Given the description of an element on the screen output the (x, y) to click on. 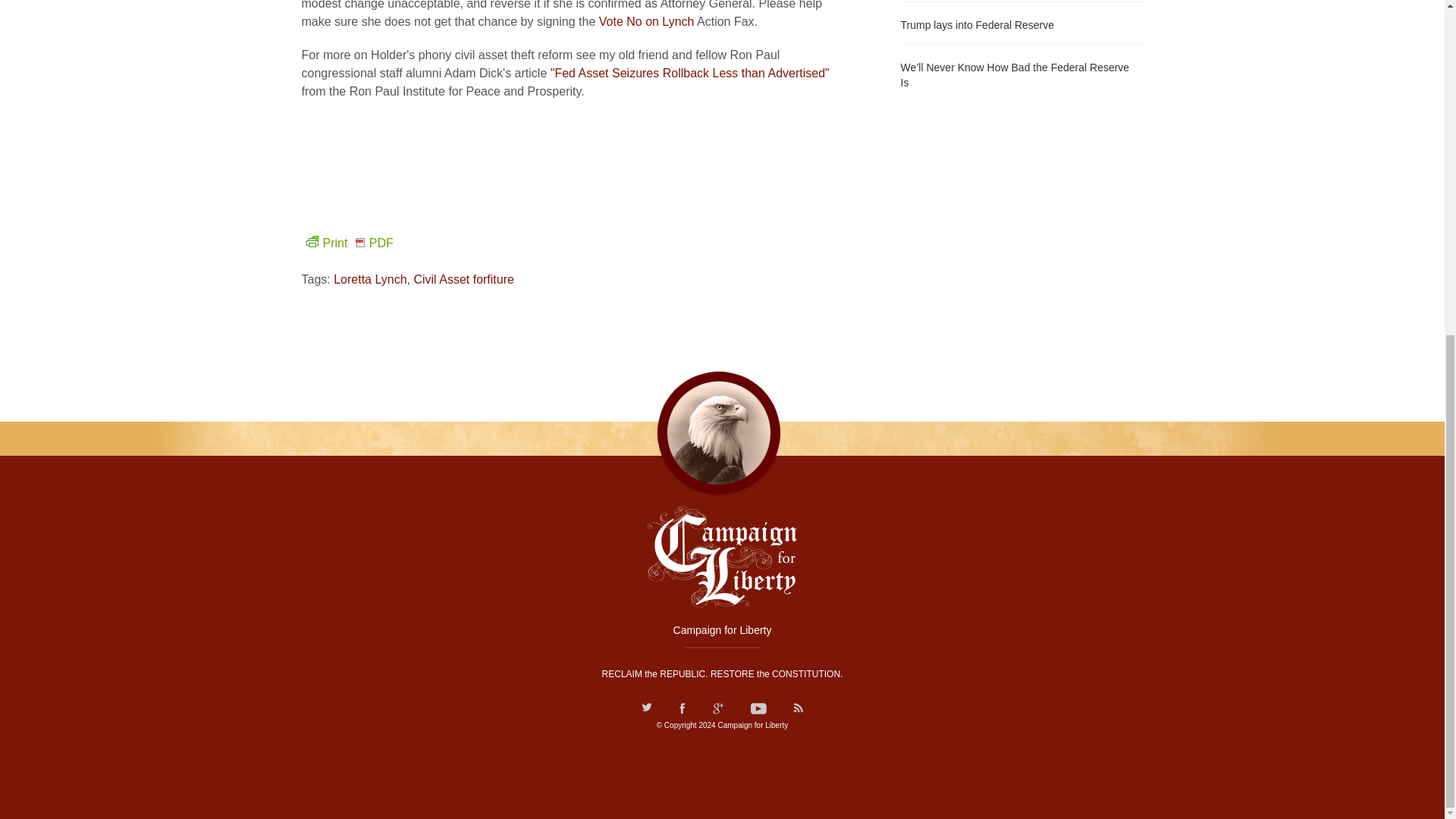
Vote No on Lynch (646, 21)
Print PDF (347, 242)
Civil Asset forfiture (463, 278)
Loretta Lynch (369, 278)
"Fed Asset Seizures Rollback Less than Advertised" (689, 72)
Printer Friendly and PDF (347, 242)
Trump lays into Federal Reserve (1021, 23)
